Given the description of an element on the screen output the (x, y) to click on. 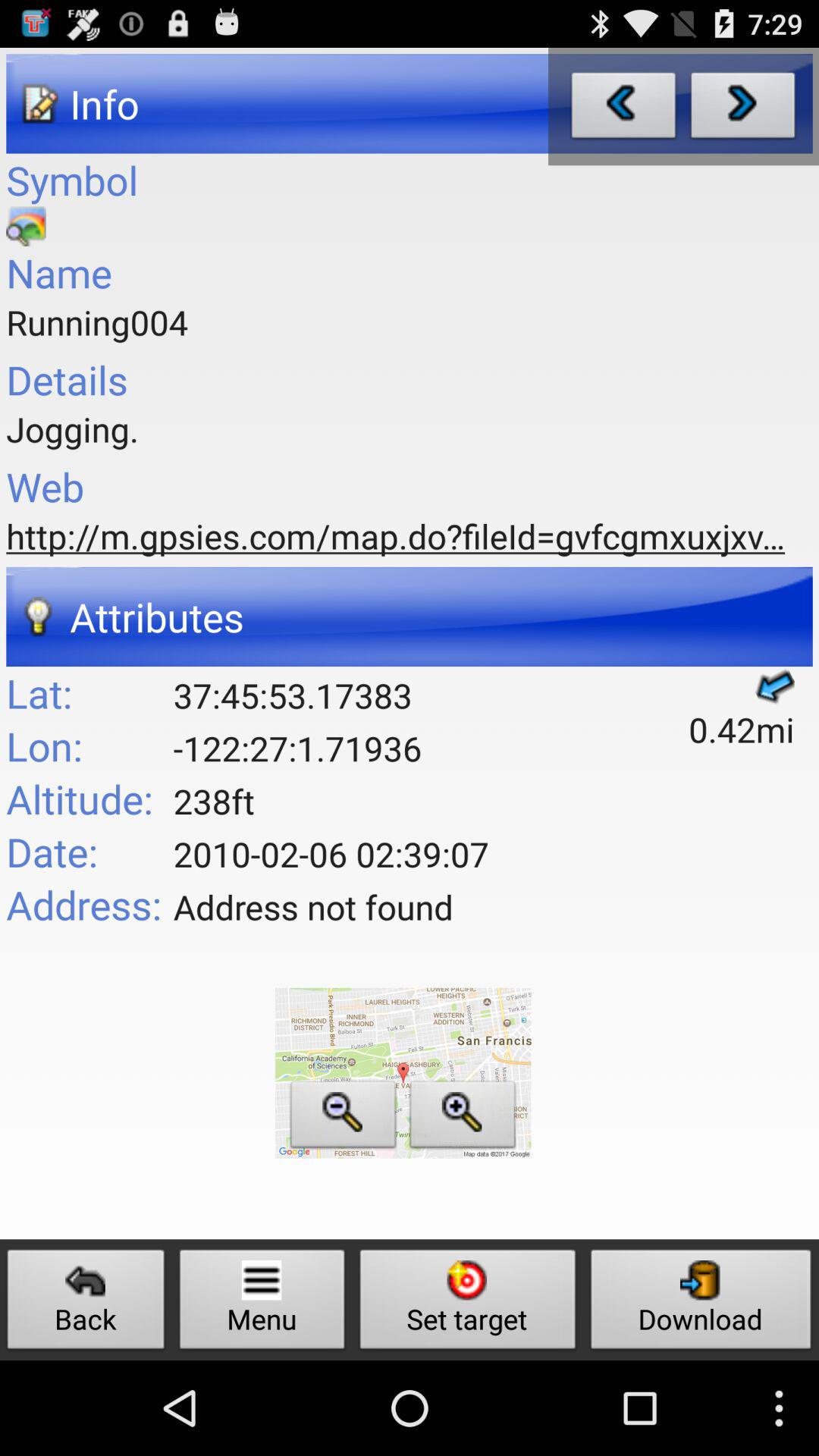
zoom in (462, 1118)
